Given the description of an element on the screen output the (x, y) to click on. 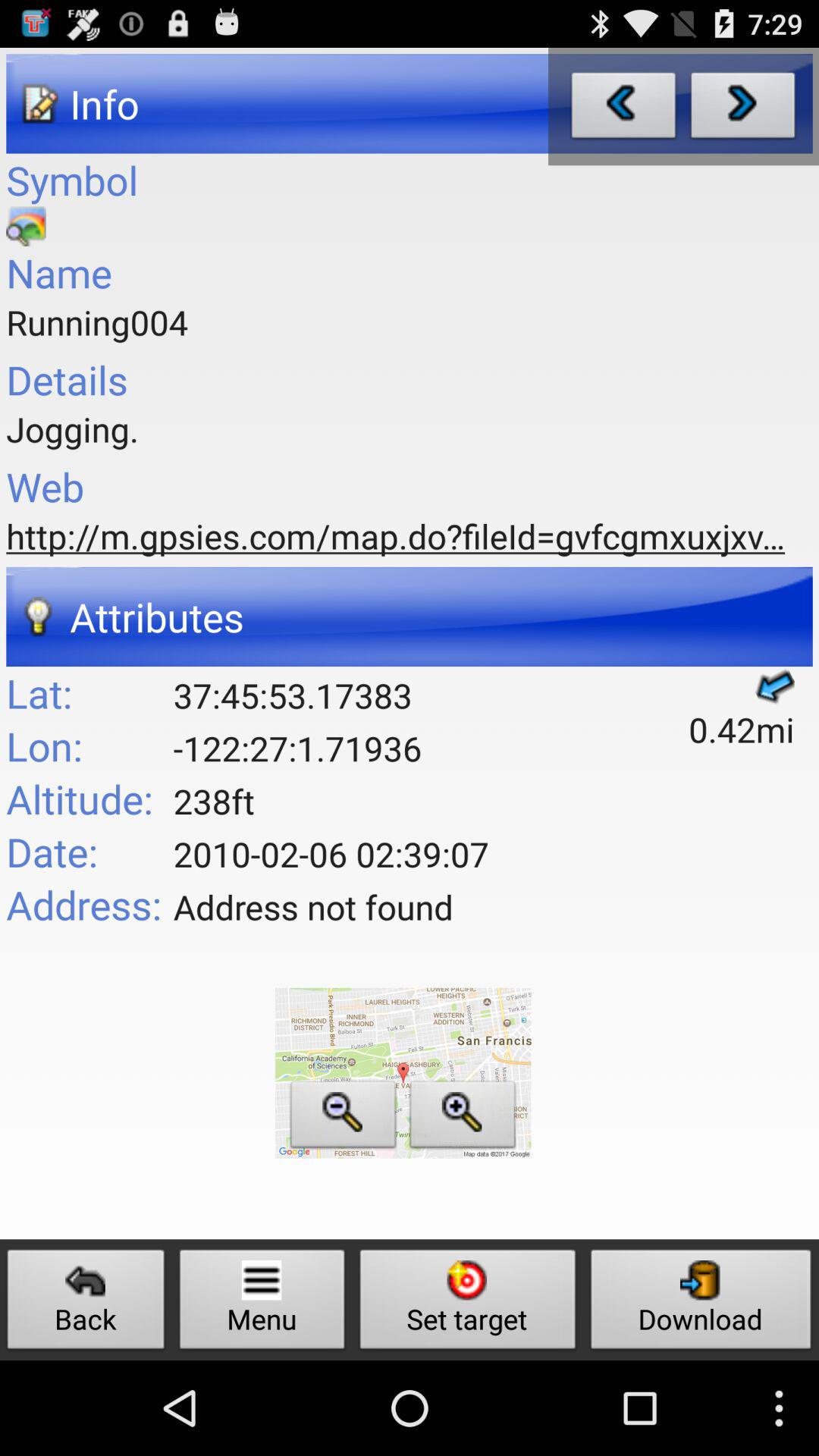
zoom in (462, 1118)
